Given the description of an element on the screen output the (x, y) to click on. 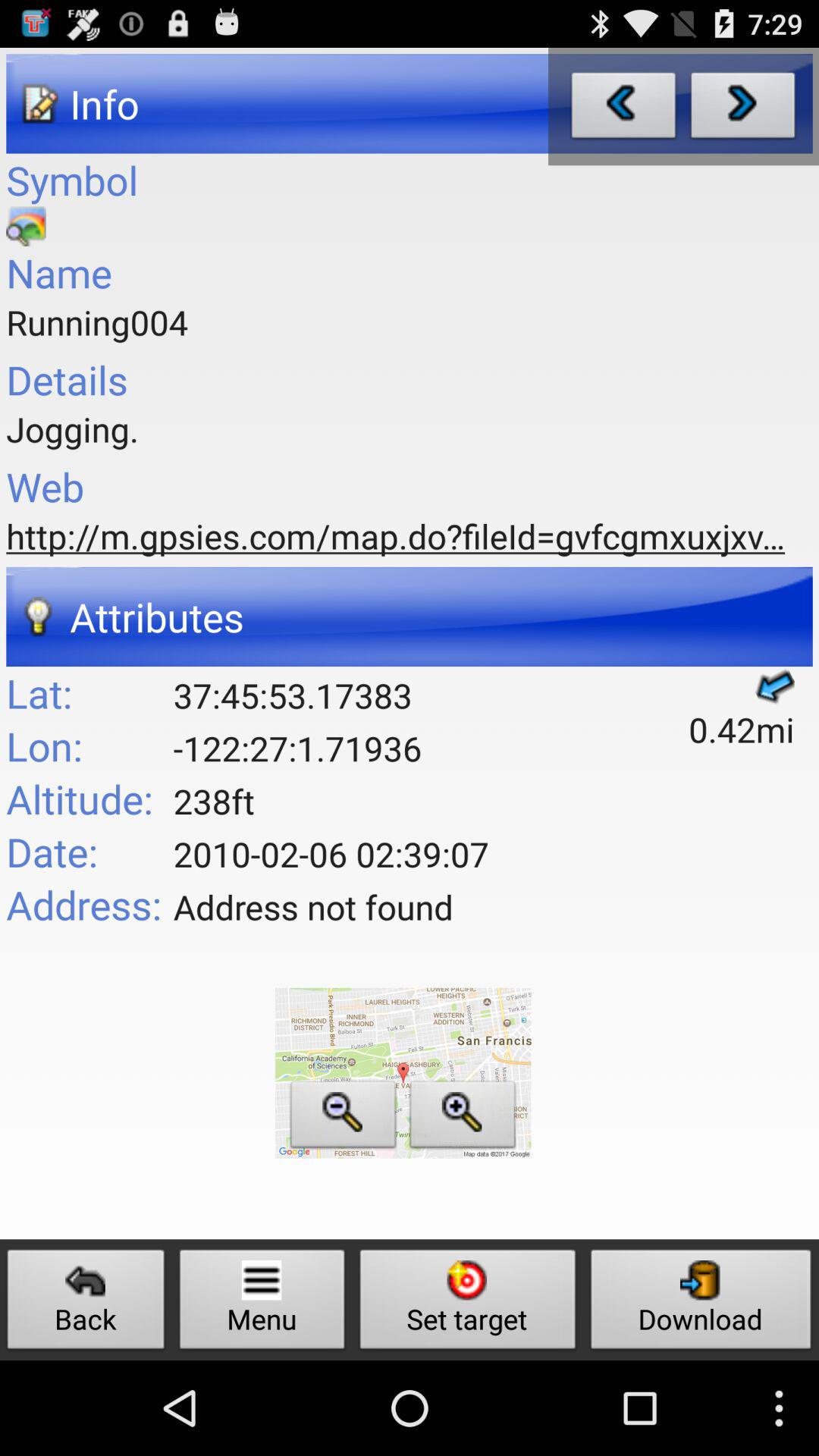
zoom in (462, 1118)
